Given the description of an element on the screen output the (x, y) to click on. 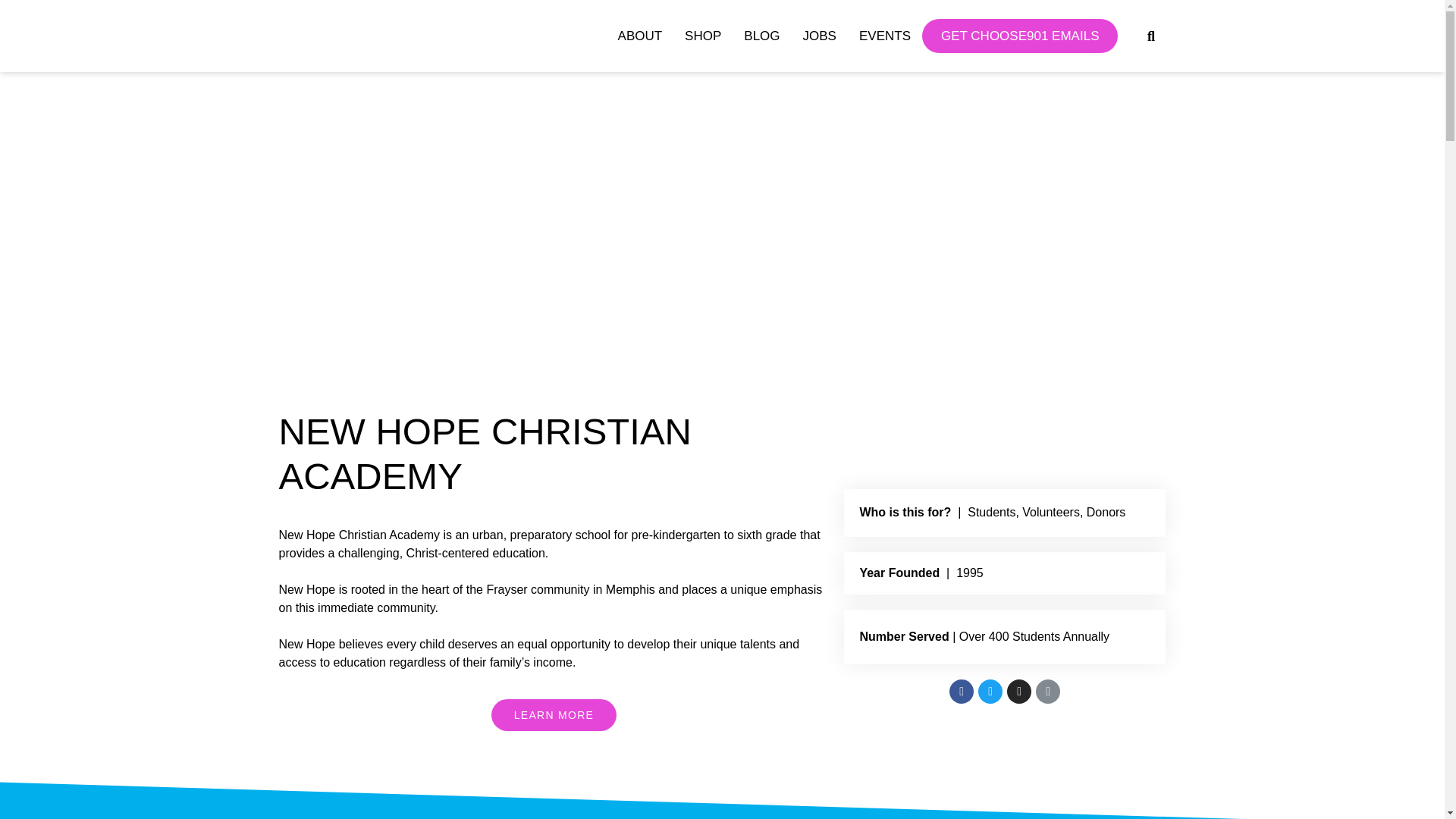
LEARN MORE (554, 715)
BLOG (761, 36)
EVENTS (884, 36)
JOBS (819, 36)
SHOP (703, 36)
GET CHOOSE901 EMAILS (1019, 36)
ABOUT (639, 36)
